Given the description of an element on the screen output the (x, y) to click on. 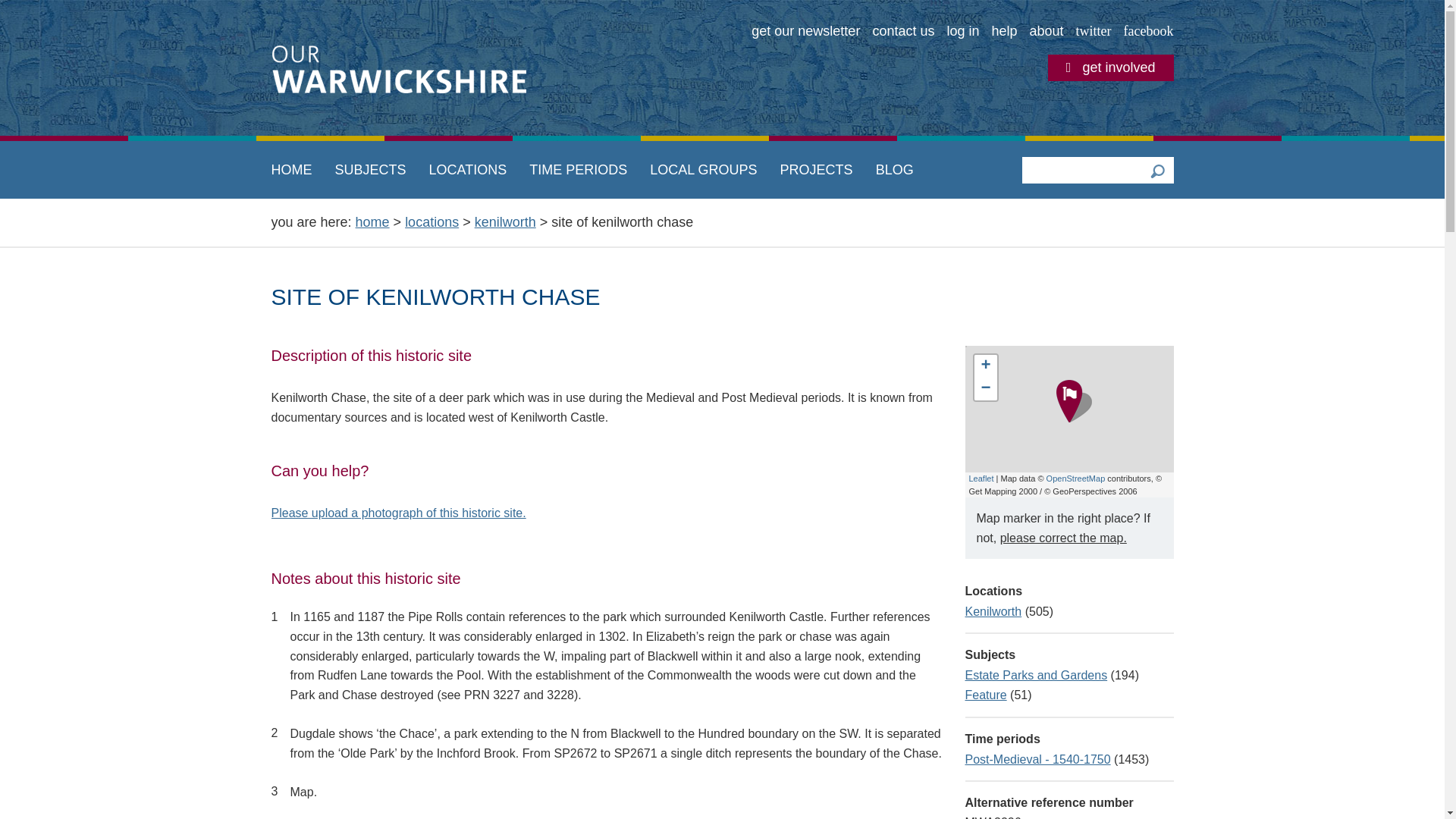
Leaflet (981, 478)
Zoom out (984, 388)
Go (1156, 170)
A JS library for interactive maps (981, 478)
locations (431, 222)
OpenStreetMap (1075, 478)
BLOG (894, 169)
Please upload a photograph of this historic site. (397, 512)
TIME PERIODS (577, 169)
Go (1156, 170)
Go (13, 7)
LOCAL GROUPS (702, 169)
Search Our Warwickshire (1156, 170)
get involved (1110, 67)
please correct the map. (1063, 537)
